Given the description of an element on the screen output the (x, y) to click on. 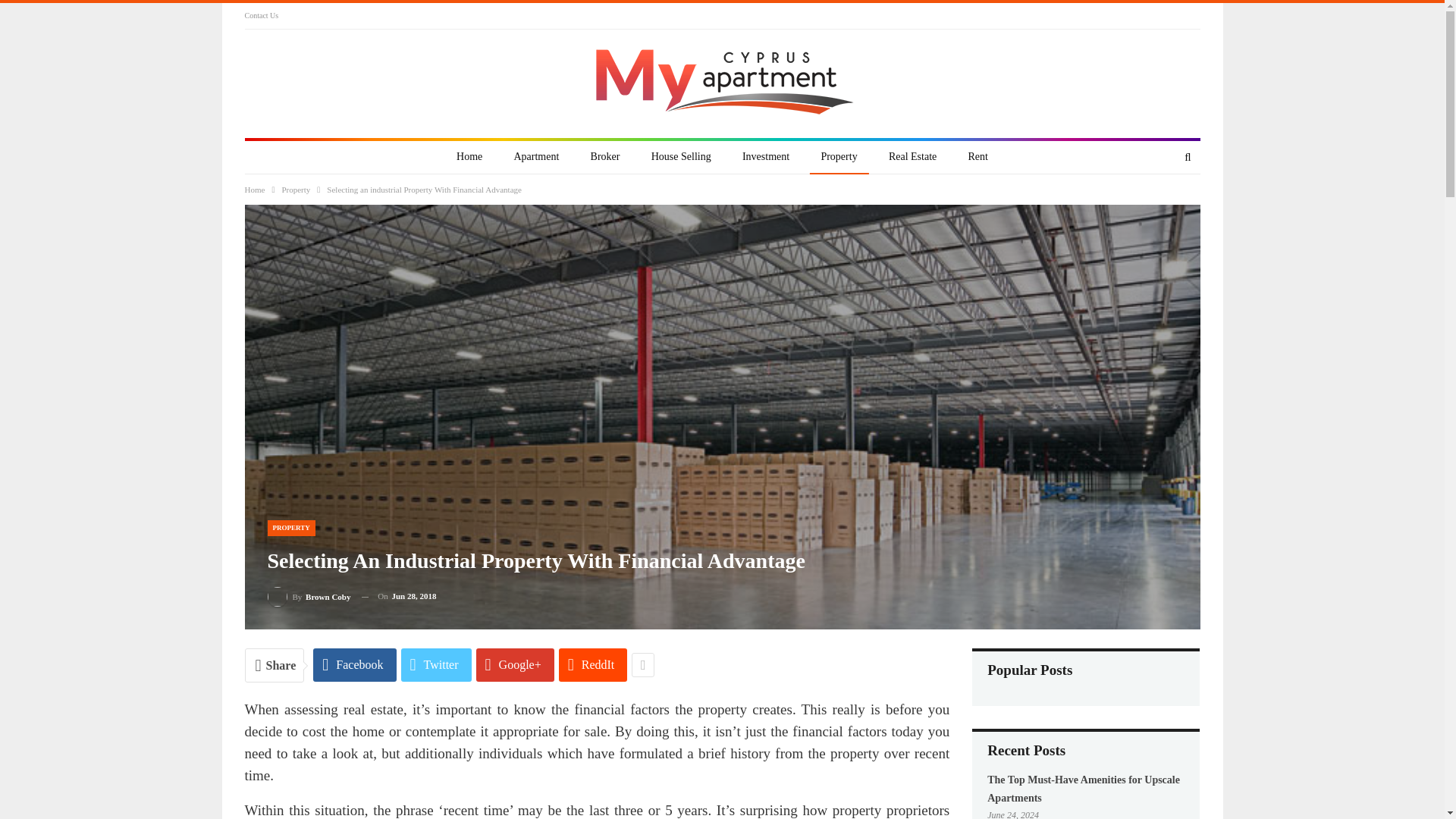
ReddIt (593, 664)
Broker (605, 157)
Investment (765, 157)
Home (469, 157)
House Selling (681, 157)
Property (838, 157)
Rent (977, 157)
Property (295, 189)
Home (254, 189)
Real Estate (912, 157)
Browse Author Articles (308, 596)
PROPERTY (290, 528)
By Brown Coby (308, 596)
Contact Us (261, 15)
